Given the description of an element on the screen output the (x, y) to click on. 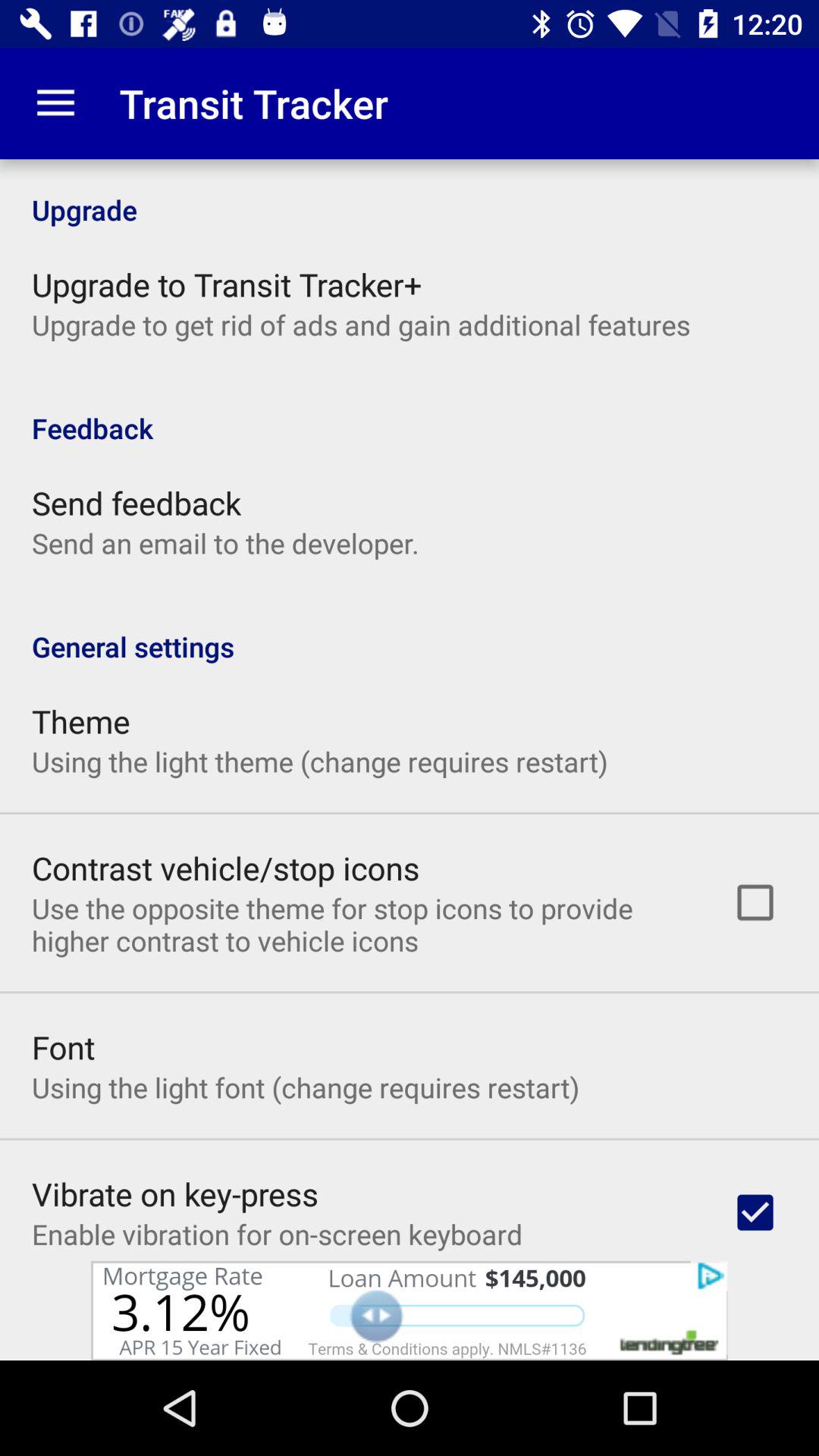
go to a page for a loan company (409, 1310)
